Given the description of an element on the screen output the (x, y) to click on. 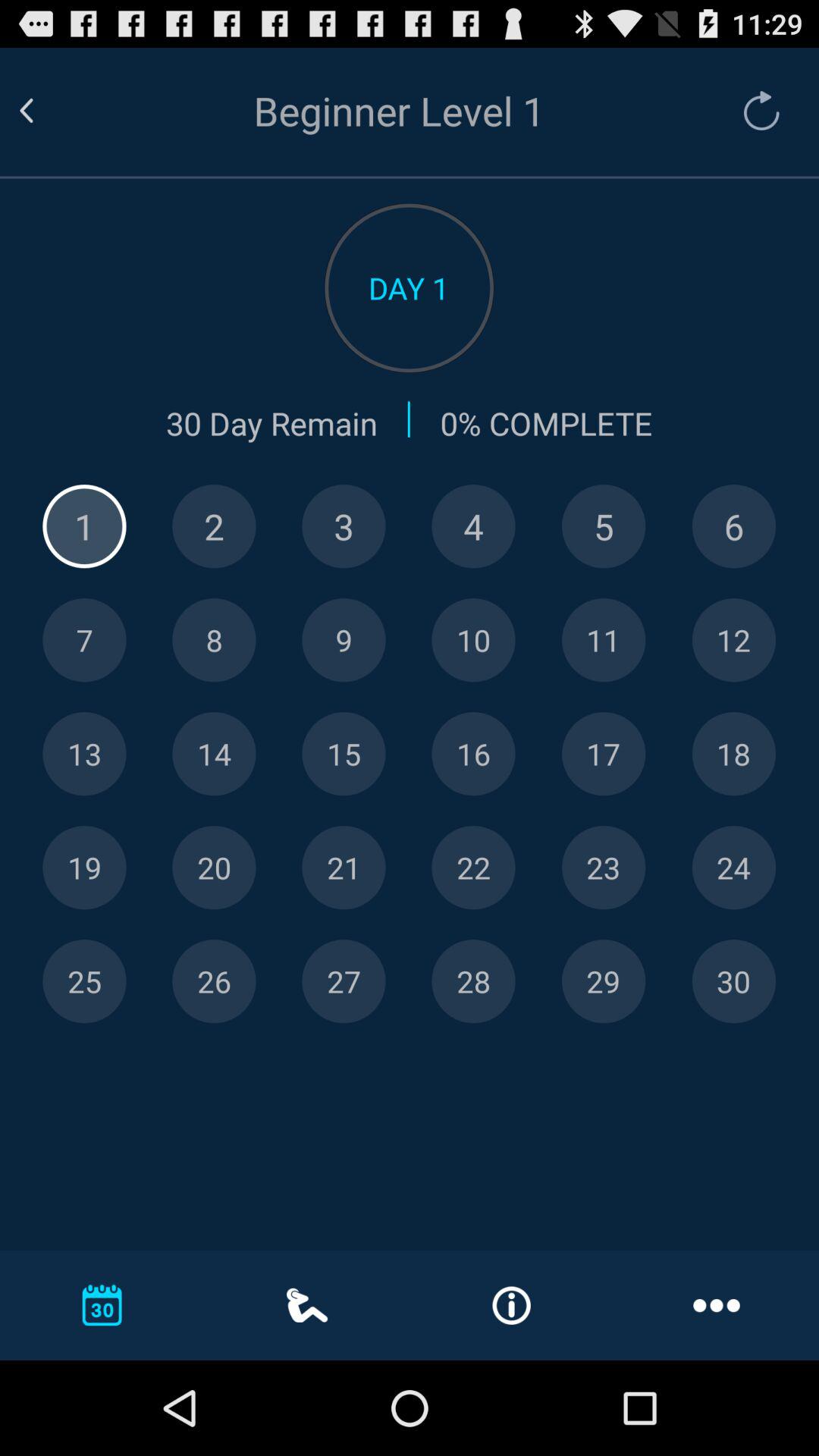
go to day 20 (213, 867)
